Given the description of an element on the screen output the (x, y) to click on. 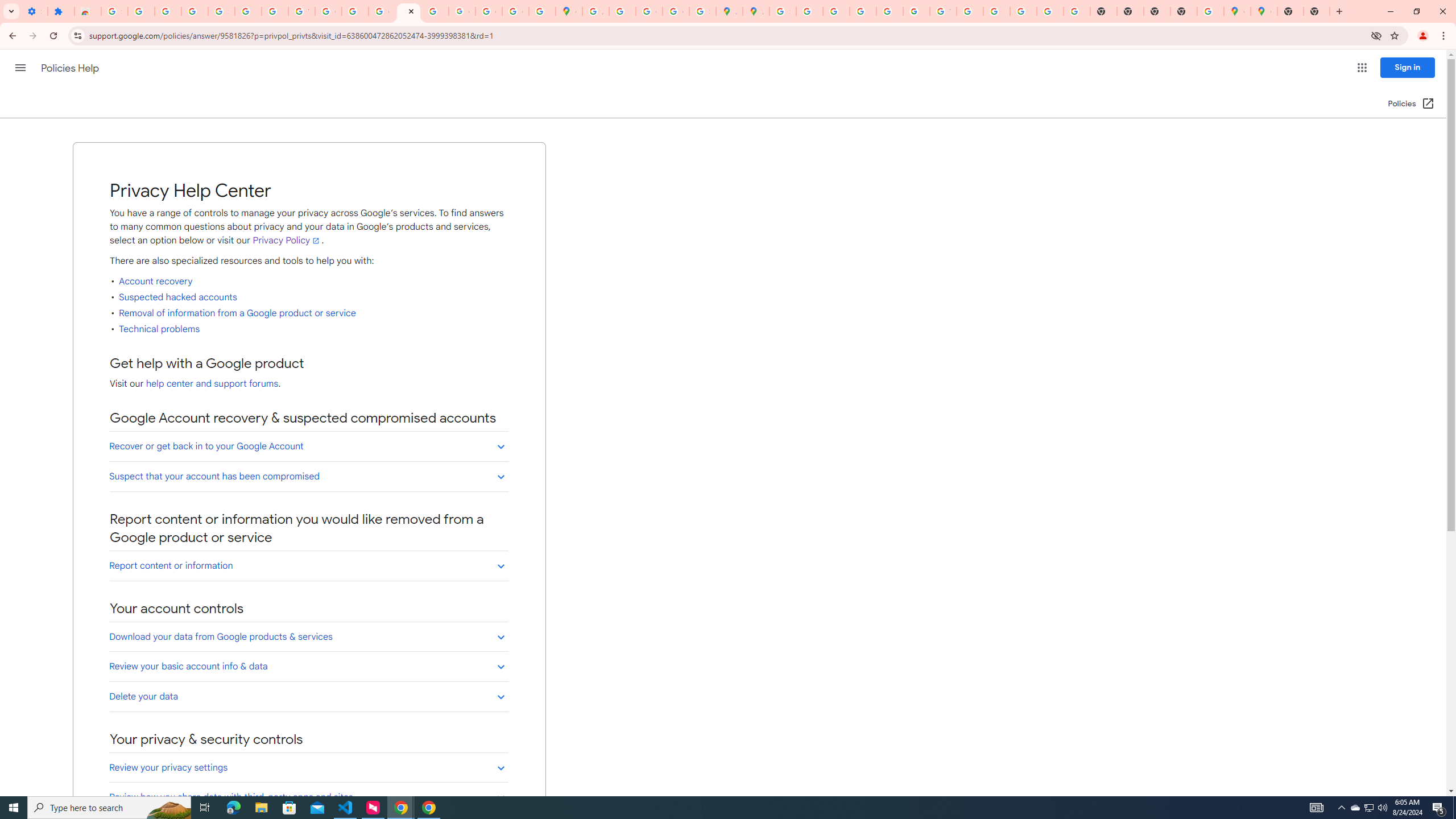
Account recovery (155, 281)
New Tab (1290, 11)
New Tab (1316, 11)
Review your basic account info & data (308, 666)
Suspect that your account has been compromised (308, 476)
YouTube (301, 11)
